Given the description of an element on the screen output the (x, y) to click on. 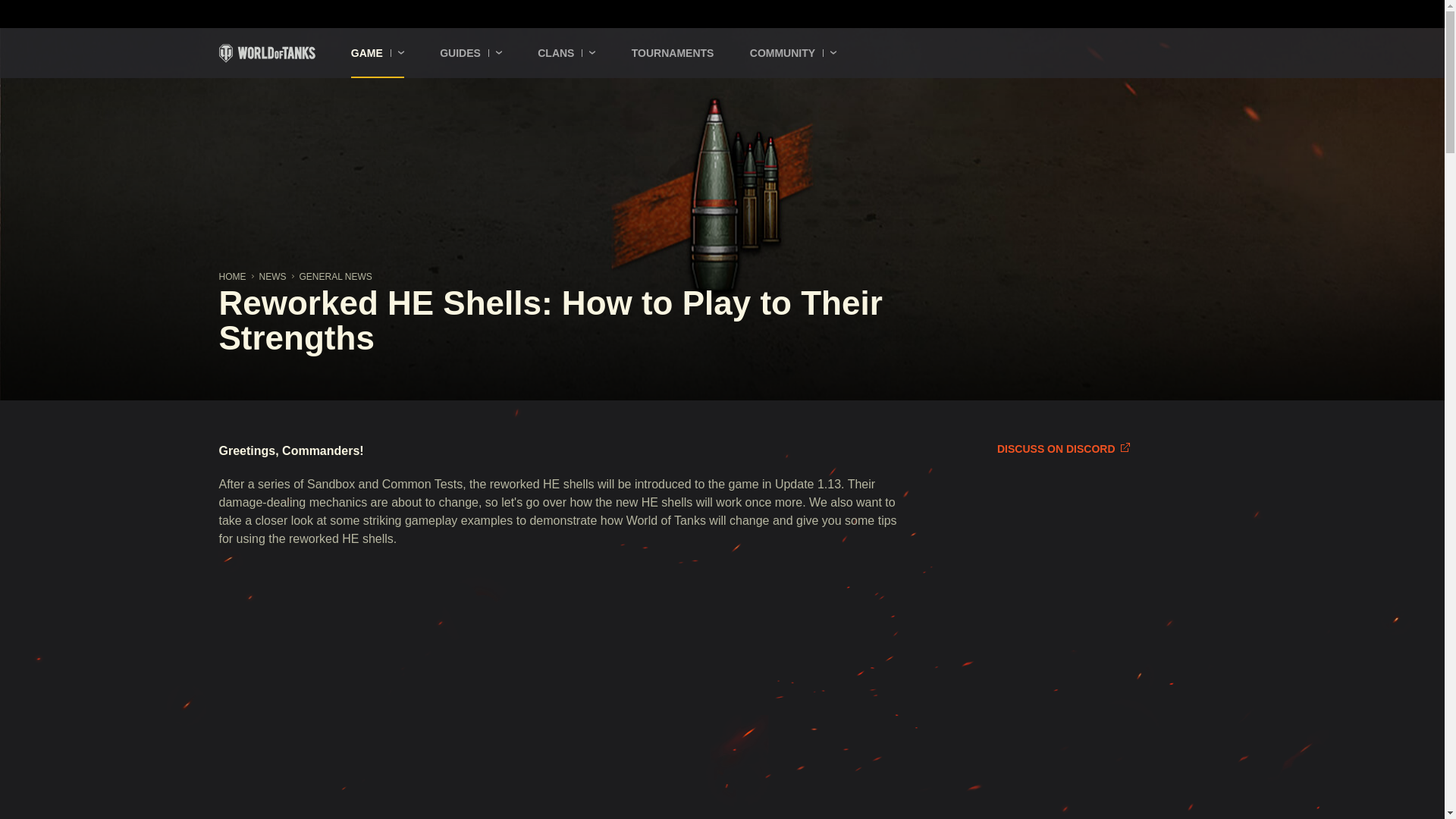
TOURNAMENTS (672, 52)
GAME (377, 52)
CLANS (566, 52)
GUIDES (470, 52)
COMMUNITY (792, 52)
